Given the description of an element on the screen output the (x, y) to click on. 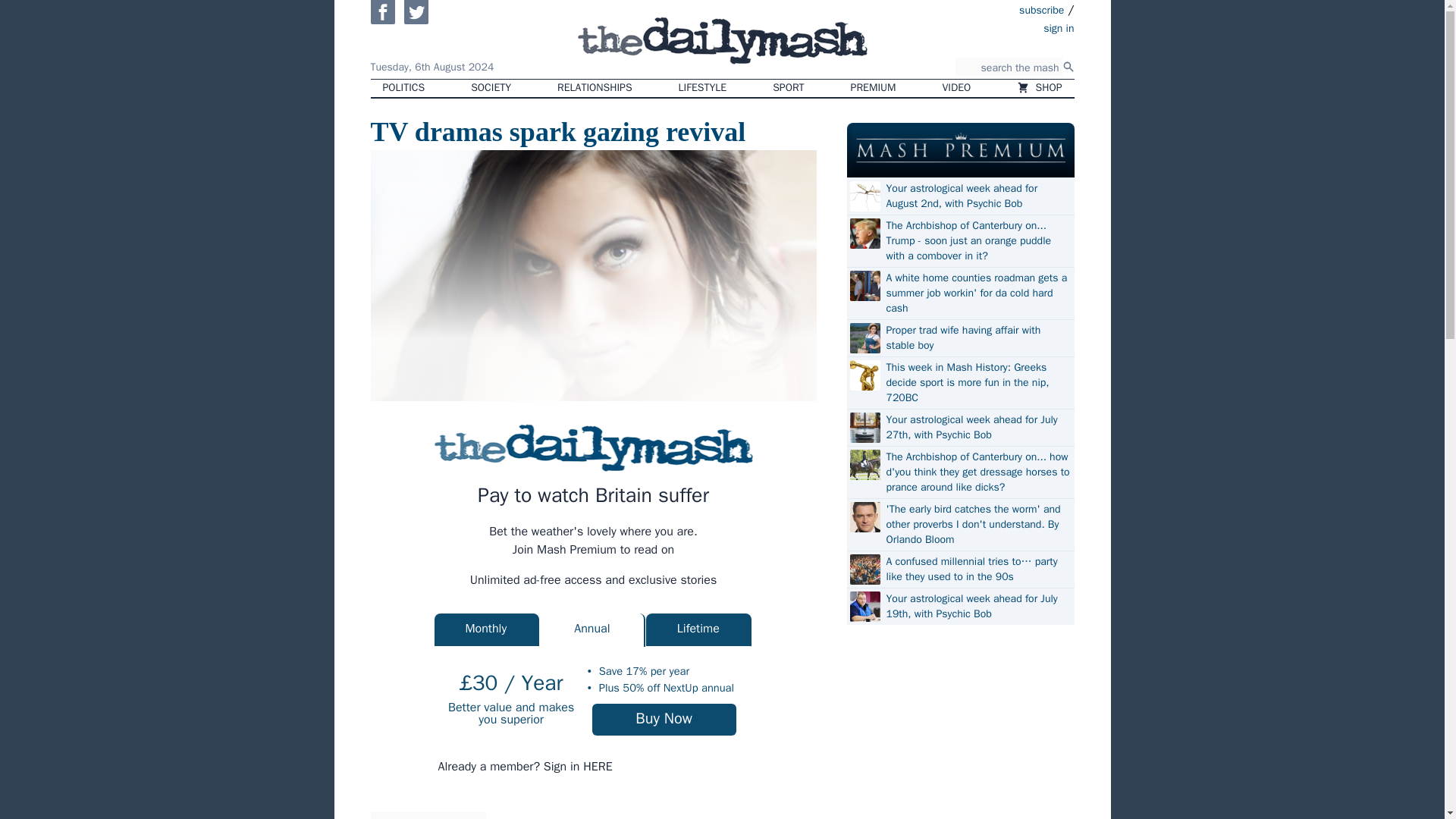
VIDEO (957, 88)
SOCIETY (490, 88)
POLITICS (402, 88)
Proper trad wife having affair with stable boy (977, 337)
LIFESTYLE (702, 88)
RELATIONSHIPS (593, 88)
SHOP (1039, 88)
Buy Now (664, 719)
sign in (970, 27)
Your astrological week ahead for July 27th, with Psychic Bob (977, 427)
Search (1067, 66)
subscribe (1041, 9)
